Given the description of an element on the screen output the (x, y) to click on. 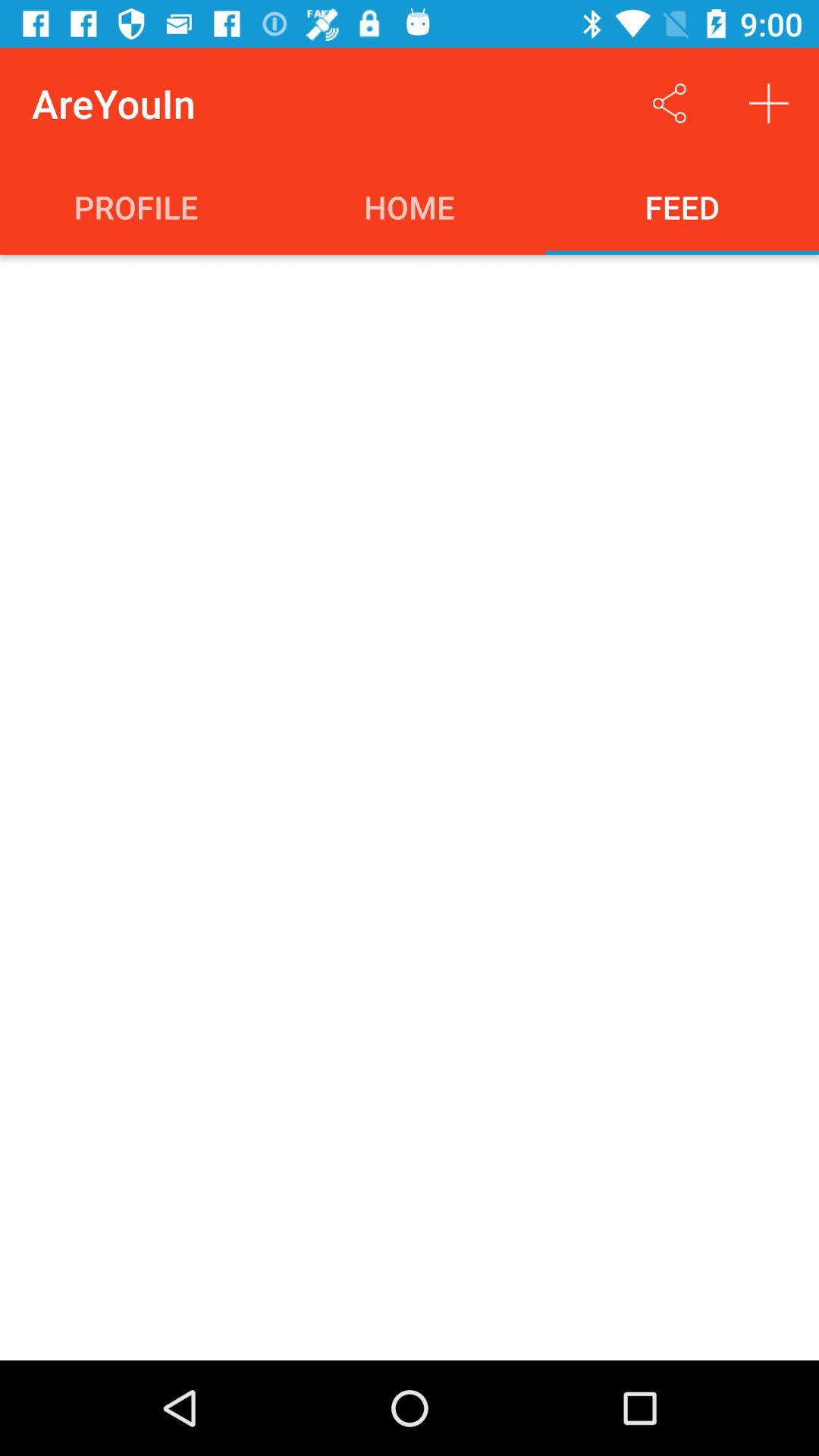
share content (669, 103)
